Given the description of an element on the screen output the (x, y) to click on. 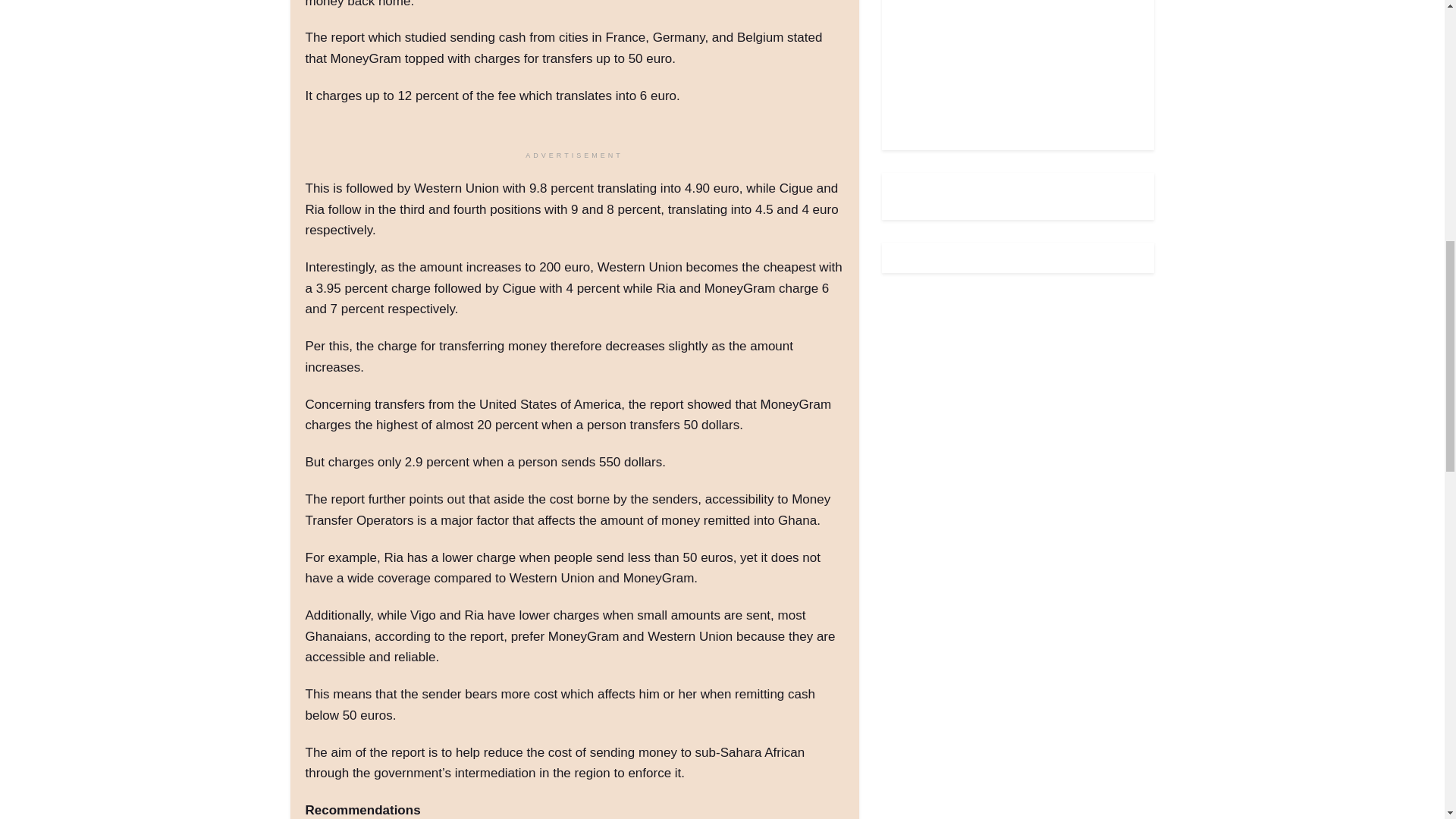
Advertisement (1010, 64)
